Given the description of an element on the screen output the (x, y) to click on. 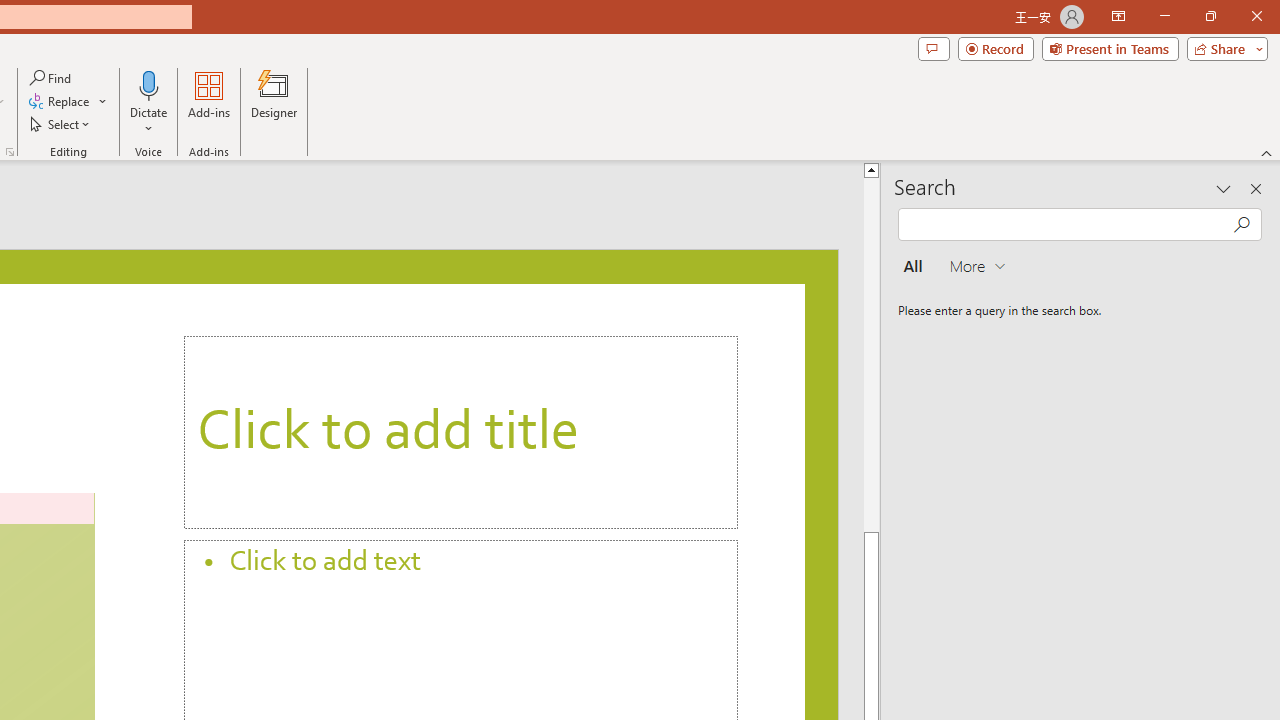
Replace... (68, 101)
More Options (149, 121)
Present in Teams (1109, 48)
Dictate (149, 84)
Ribbon Display Options (1118, 16)
Close pane (1256, 188)
Title TextBox (461, 432)
Comments (933, 48)
